Given the description of an element on the screen output the (x, y) to click on. 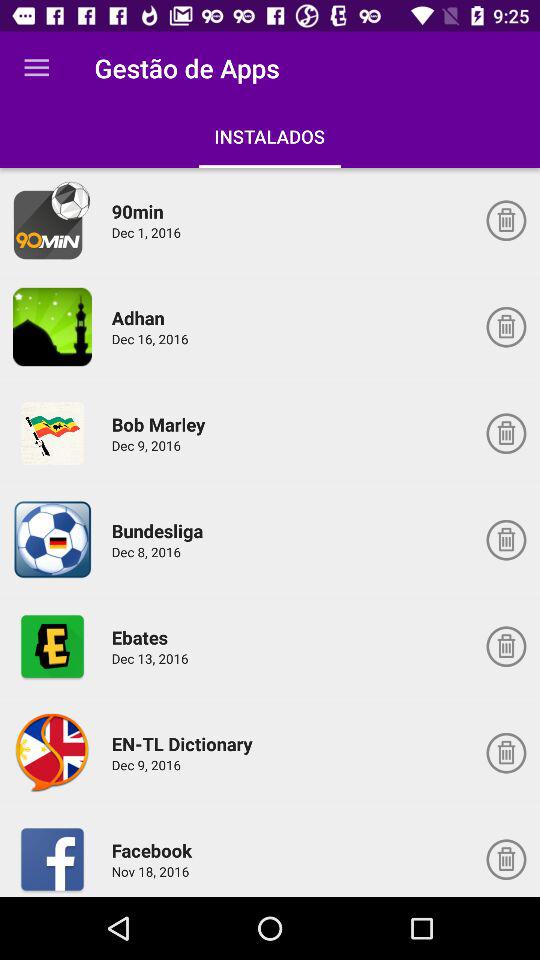
click the icon above dec 8, 2016 item (160, 530)
